Given the description of an element on the screen output the (x, y) to click on. 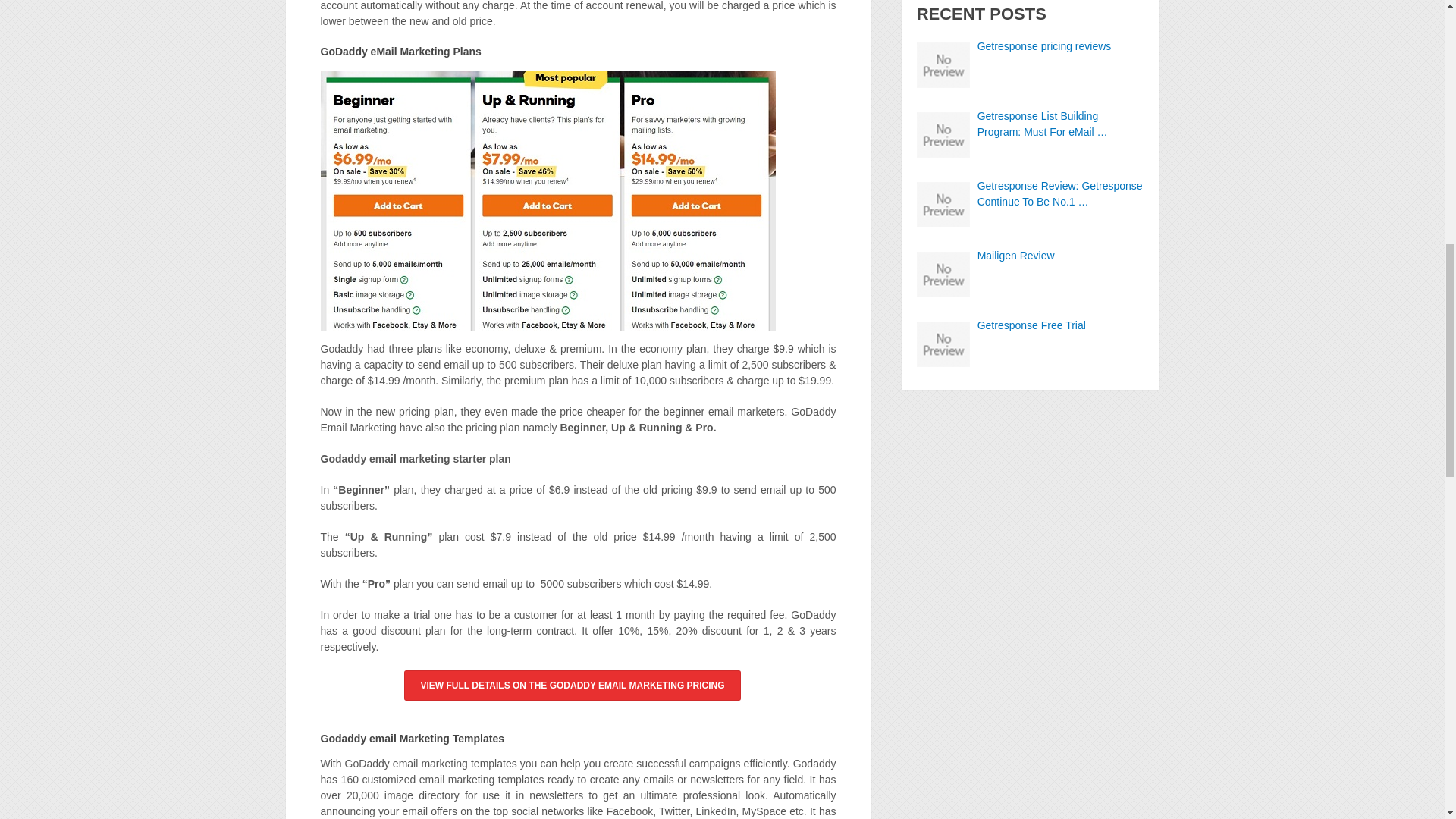
Getresponse List Building Program: Must For eMail Marketers (1030, 124)
Getresponse pricing reviews (1030, 46)
Getresponse Review: Getresponse Continue To Be No.1 in 2021 (1030, 193)
Mailigen Review (1030, 255)
Getresponse Free Trial (1030, 325)
